Given the description of an element on the screen output the (x, y) to click on. 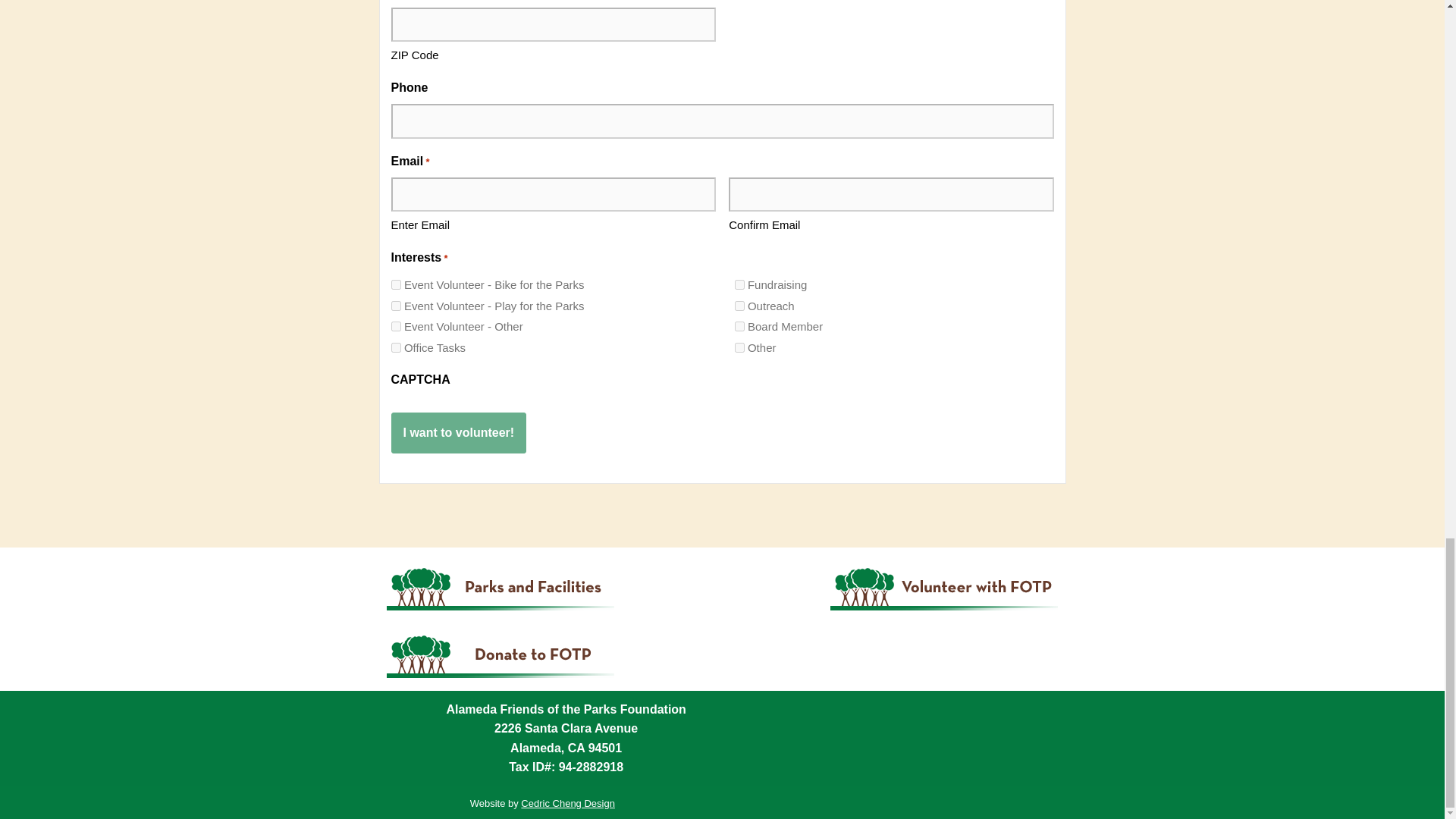
I want to volunteer! (459, 432)
Cedric Cheng Design (567, 803)
Event Volunteer - Other (396, 326)
Fundraising (738, 284)
Outreach (738, 306)
Event Volunteer - Bike for the Parks (396, 284)
Event Volunteer - Play for the Parks (396, 306)
Board Member (738, 326)
Office Tasks (396, 347)
